Given the description of an element on the screen output the (x, y) to click on. 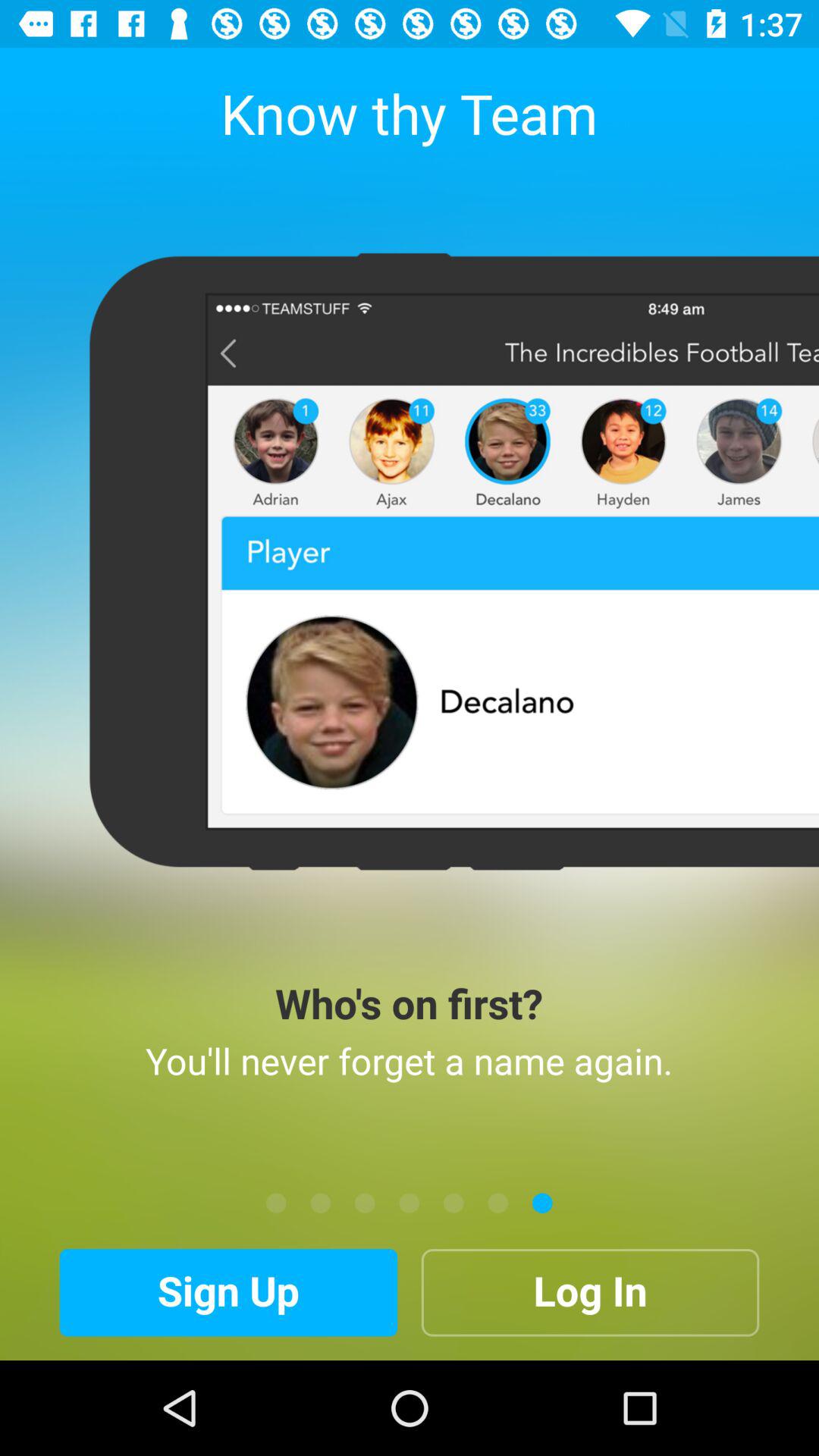
open the item above the log in item (453, 1203)
